Given the description of an element on the screen output the (x, y) to click on. 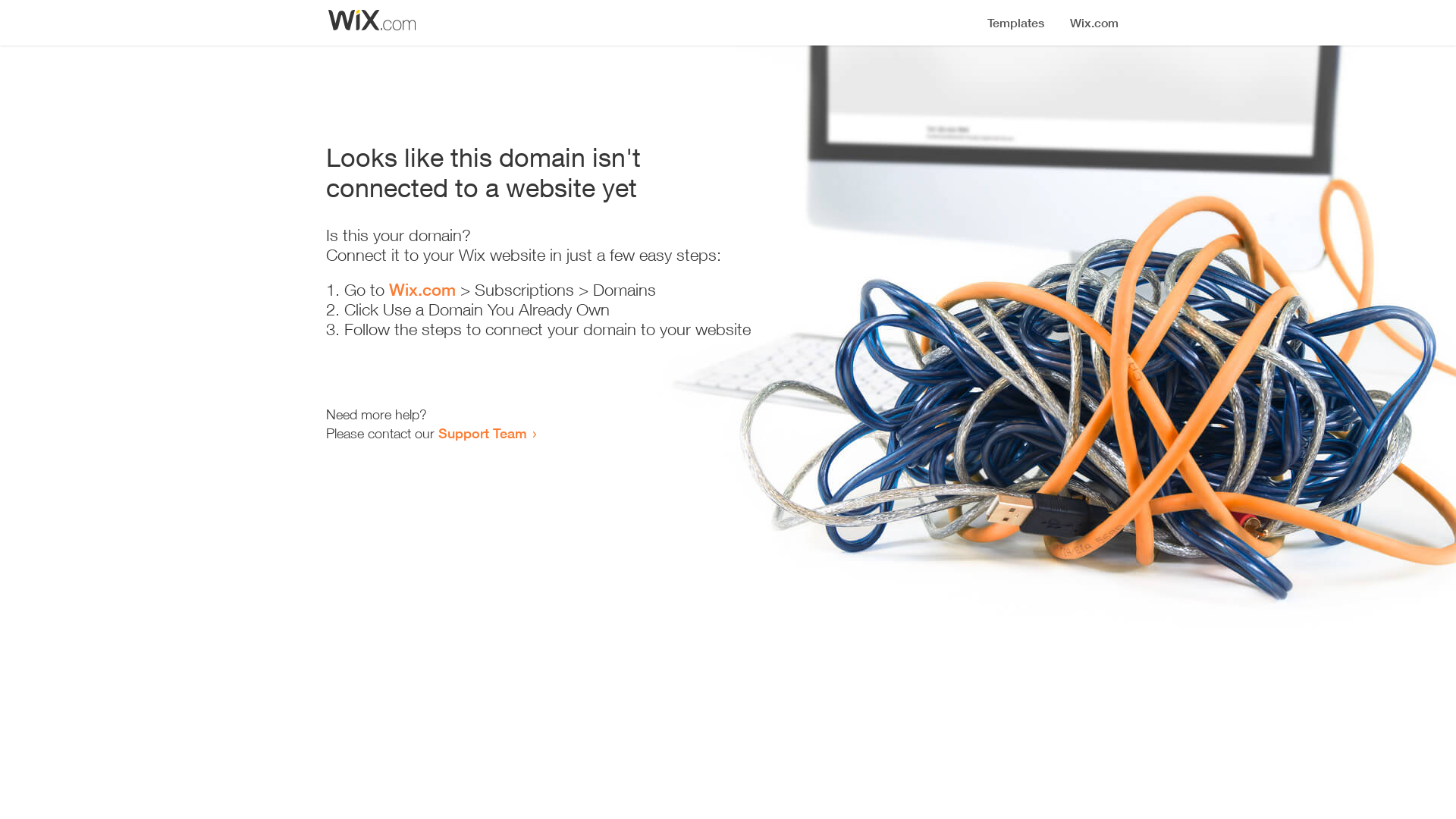
Support Team Element type: text (482, 432)
Wix.com Element type: text (422, 289)
